Given the description of an element on the screen output the (x, y) to click on. 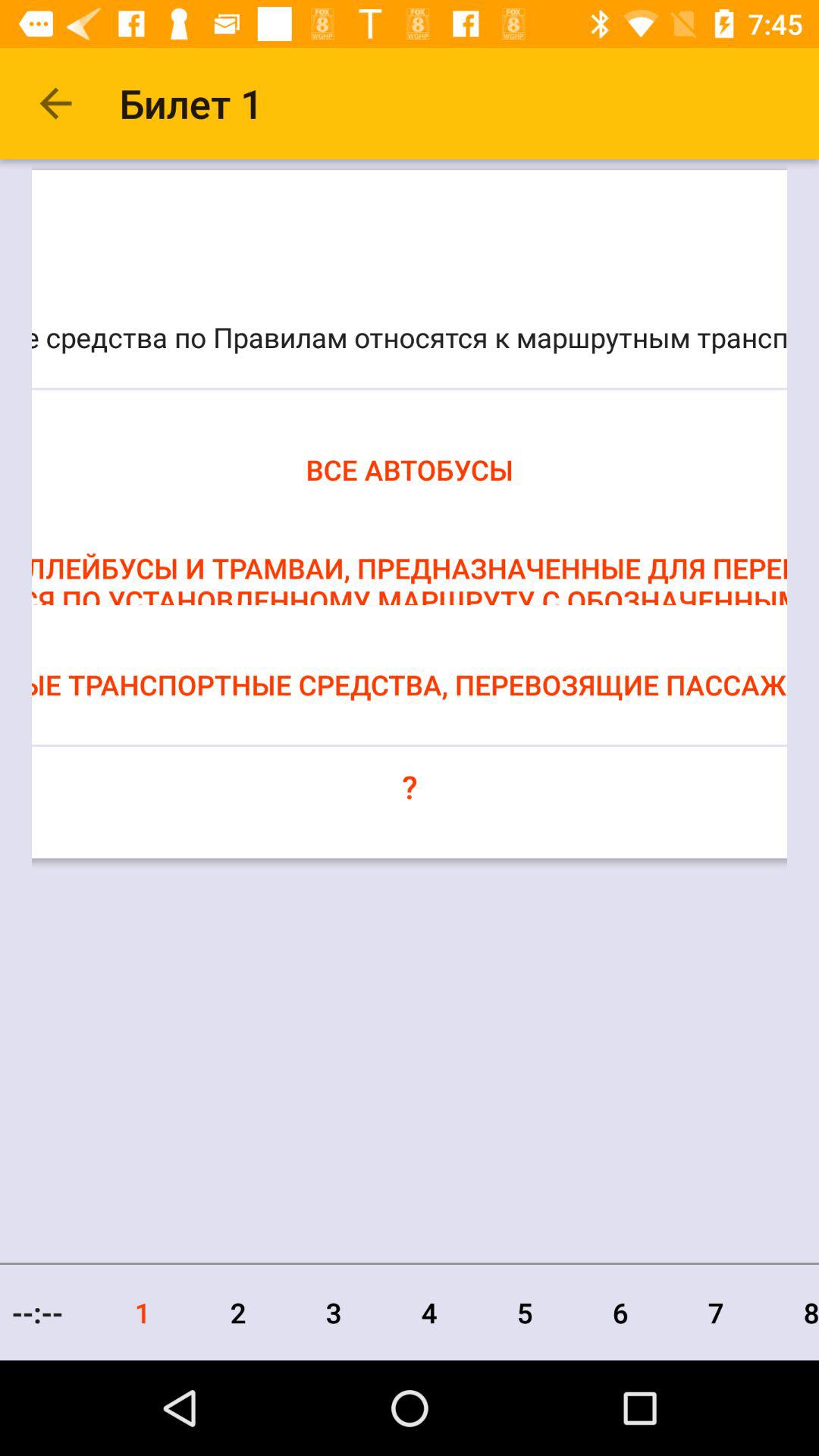
launch icon to the left of the 4 (333, 1312)
